Given the description of an element on the screen output the (x, y) to click on. 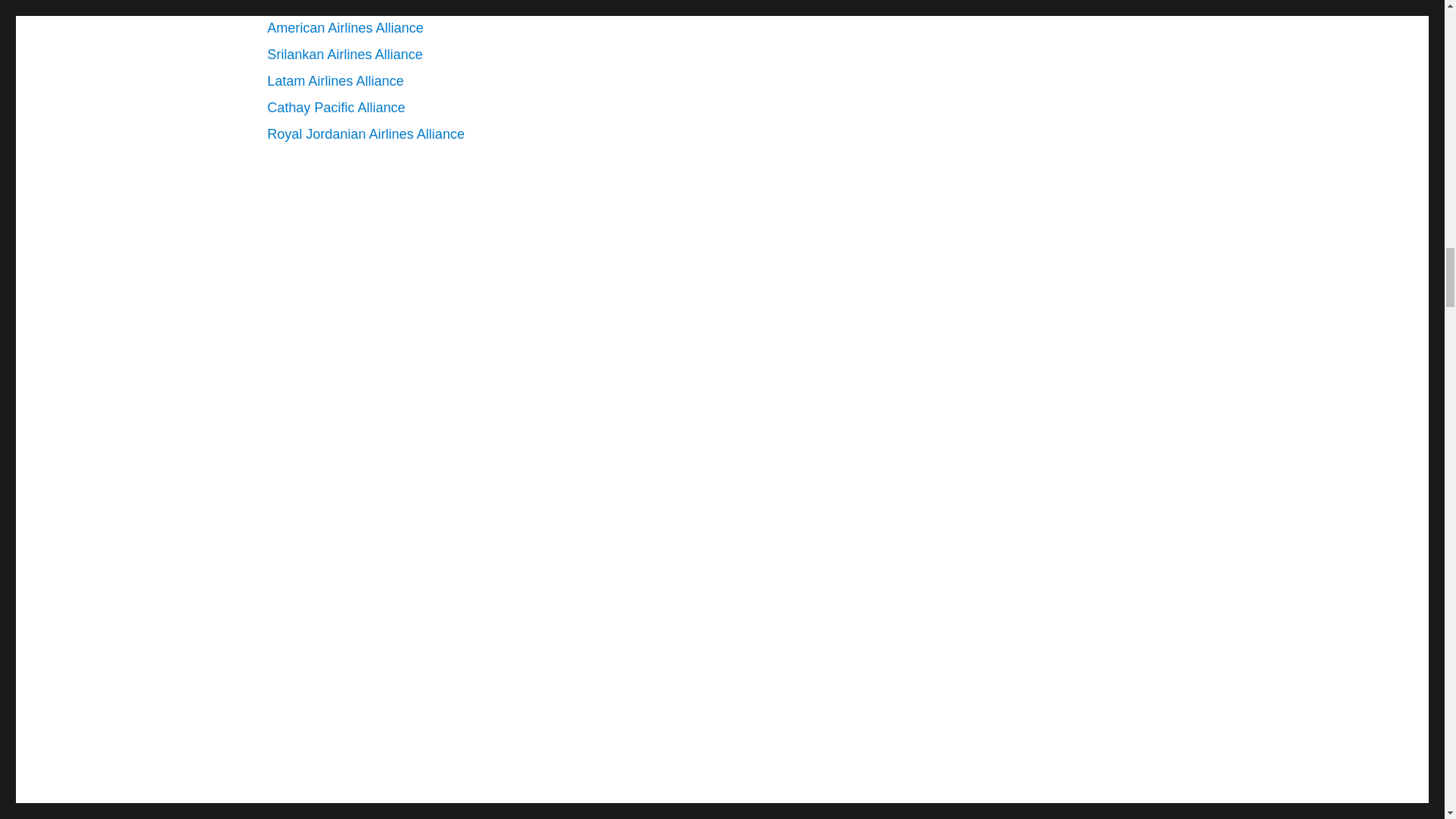
Royal Jordanian Airlines Alliance (365, 133)
S7 Airlines Alliance (323, 4)
Srilankan Airlines Alliance (344, 54)
Latam Airlines Alliance (334, 80)
Cathay Pacific Alliance (335, 107)
American Airlines Alliance (344, 28)
